Given the description of an element on the screen output the (x, y) to click on. 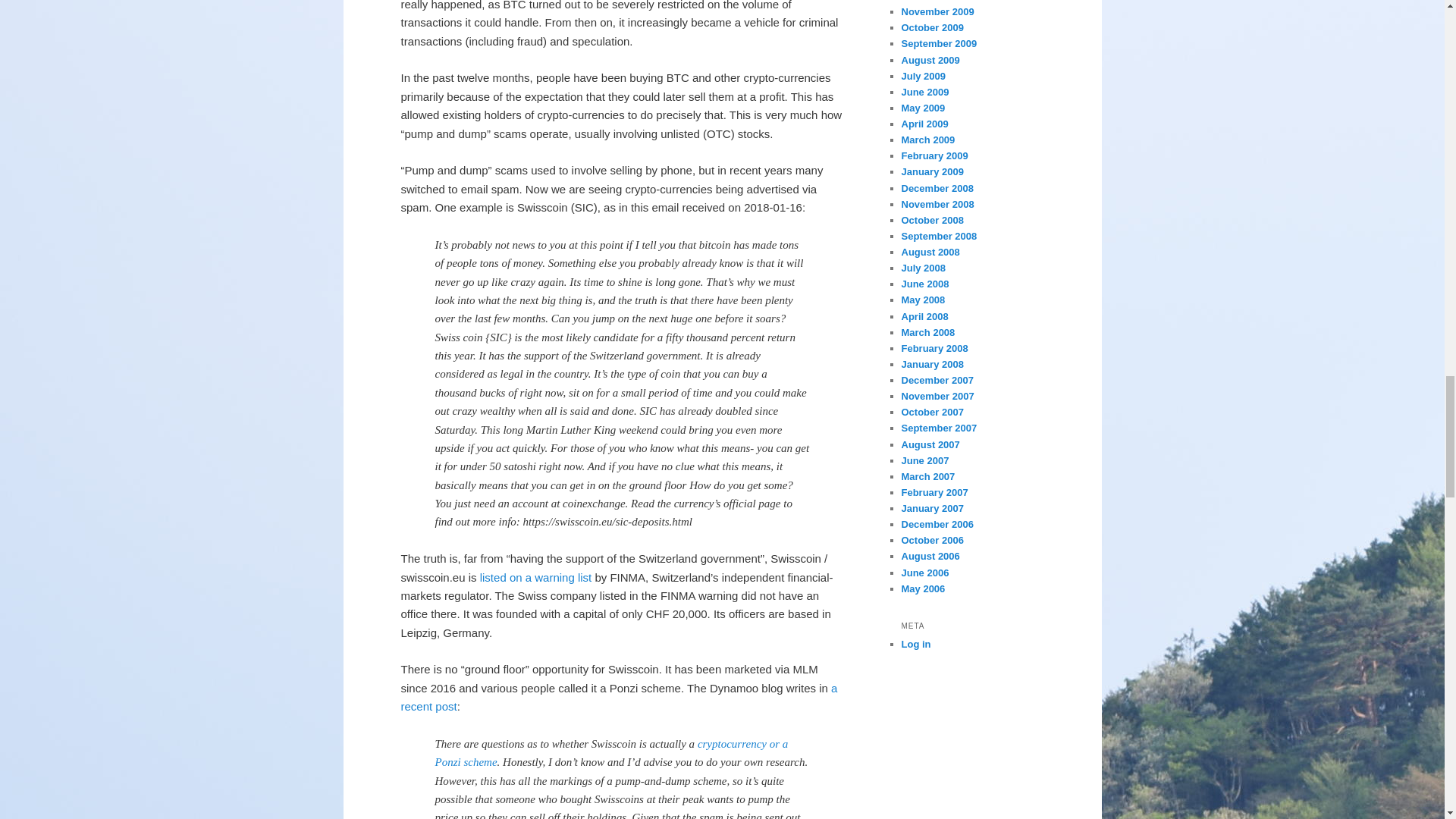
a recent post (618, 696)
listed on a warning list (536, 576)
cryptocurrency or a Ponzi scheme (612, 752)
